Given the description of an element on the screen output the (x, y) to click on. 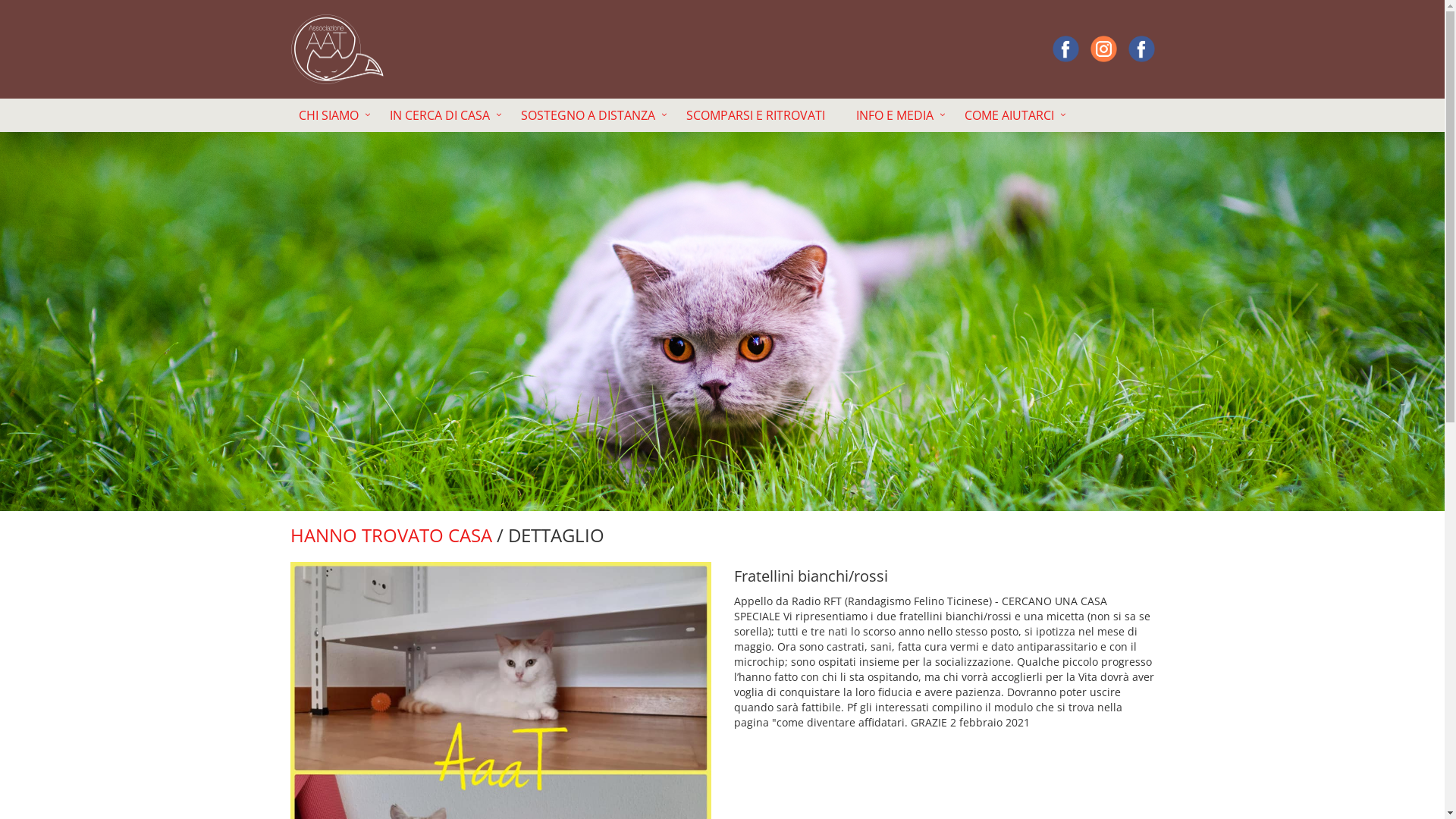
SOSTEGNO A DISTANZA Element type: text (594, 114)
IN CERCA DI CASA Element type: text (446, 114)
Associazione Amici Animali Ticino - AAT Element type: hover (1103, 48)
SCOMPARSI E RITROVATI Element type: text (761, 114)
Animali smarriti - Canton Ticino - di AaaT Element type: hover (1141, 48)
COME AIUTARCI Element type: text (1015, 114)
Associazione Amici Animali Ticino - AAT Element type: hover (1065, 48)
HANNO TROVATO CASA Element type: text (390, 534)
CHI SIAMO Element type: text (335, 114)
INFO E MEDIA Element type: text (900, 114)
